Given the description of an element on the screen output the (x, y) to click on. 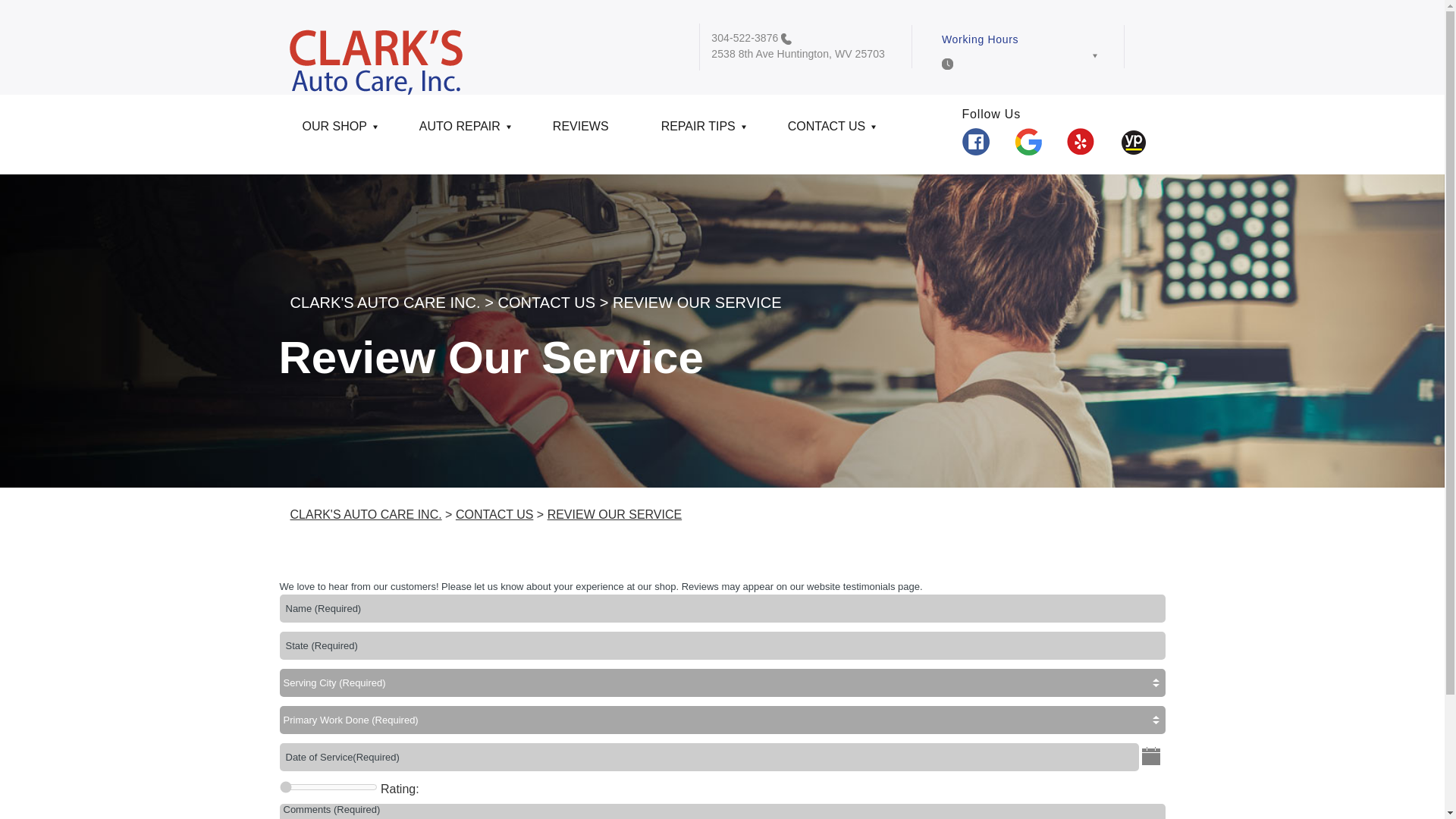
REVIEWS (583, 132)
0 (328, 787)
304-522-3876 (744, 37)
CONTACT US (829, 132)
OUR SHOP (337, 132)
REPAIR TIPS (700, 132)
AUTO REPAIR (462, 132)
